Given the description of an element on the screen output the (x, y) to click on. 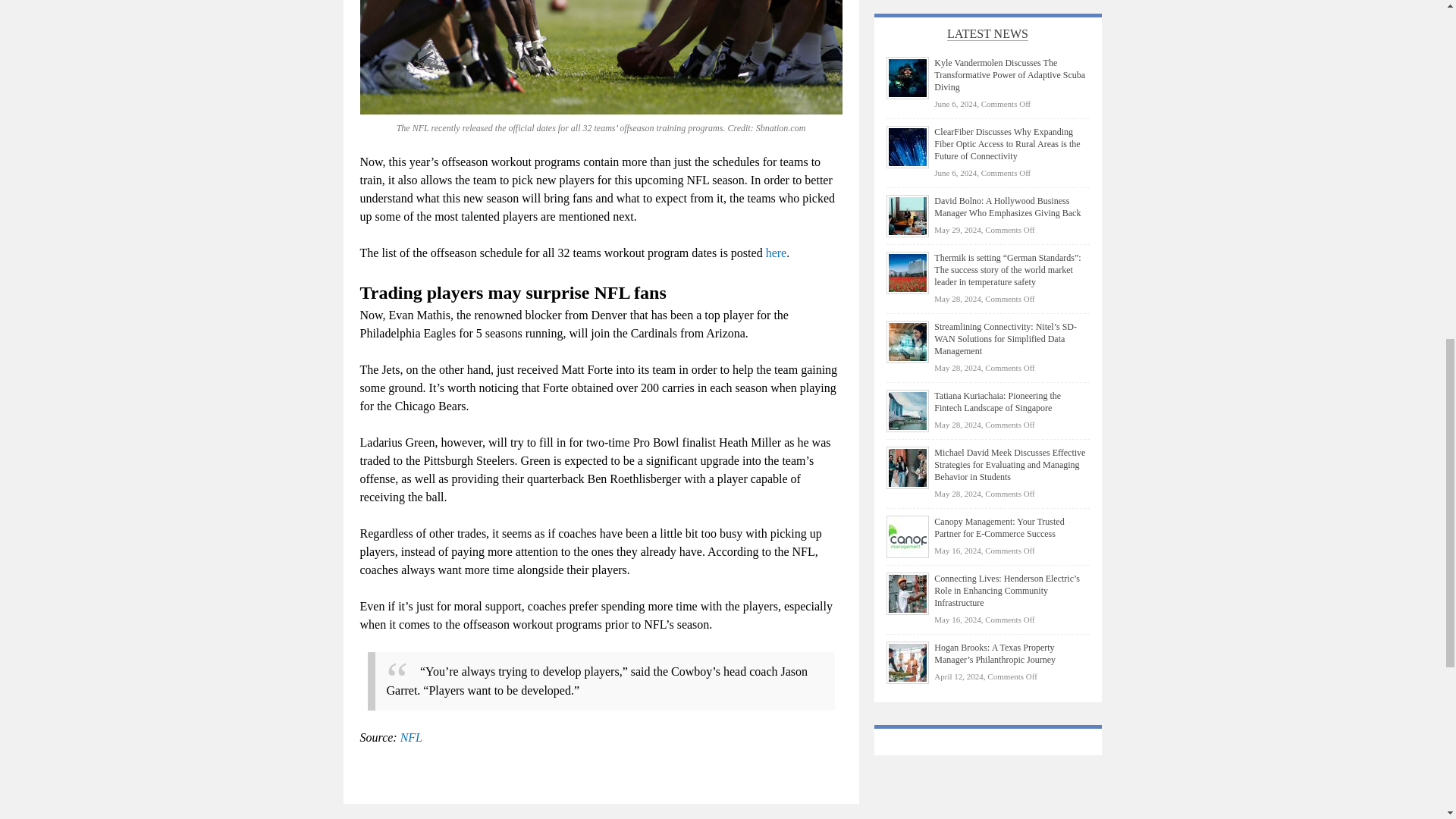
here (776, 252)
NFL (411, 737)
